Given the description of an element on the screen output the (x, y) to click on. 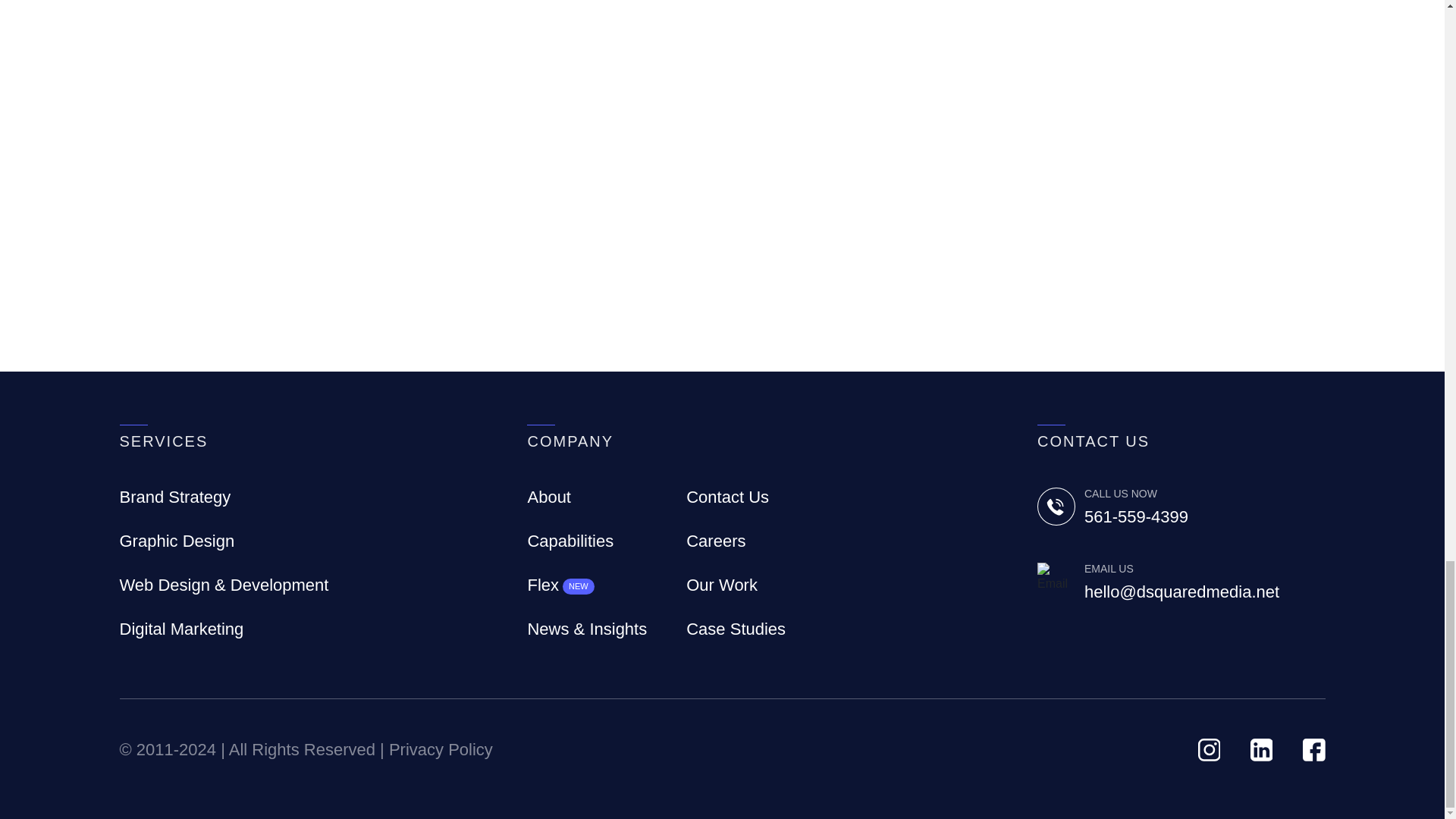
Brand Strategy (175, 496)
LinkedIn (1261, 748)
Graphic Design (176, 540)
Facebook (1313, 748)
Careers (715, 540)
About (548, 496)
561-559-4399  (1204, 516)
Capabilities (569, 540)
Digital Marketing (181, 628)
Instagram (1209, 748)
